Given the description of an element on the screen output the (x, y) to click on. 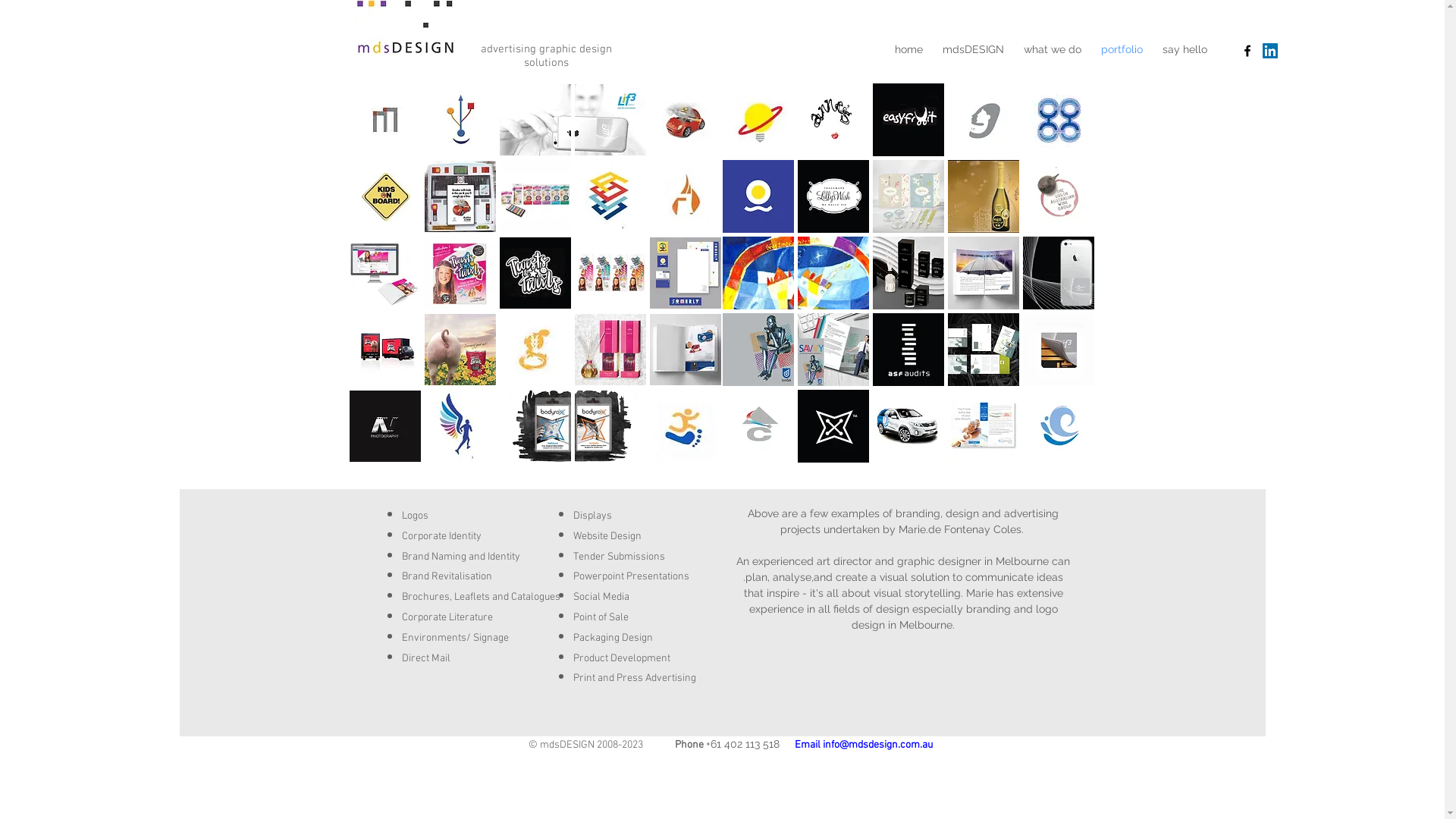
portfolio Element type: text (1121, 48)
say hello Element type: text (1184, 48)
mdsDESIGN Element type: text (972, 48)
home Element type: text (908, 48)
what we do Element type: text (1052, 48)
Email info@mdsdesign.com.au Element type: text (863, 744)
